Given the description of an element on the screen output the (x, y) to click on. 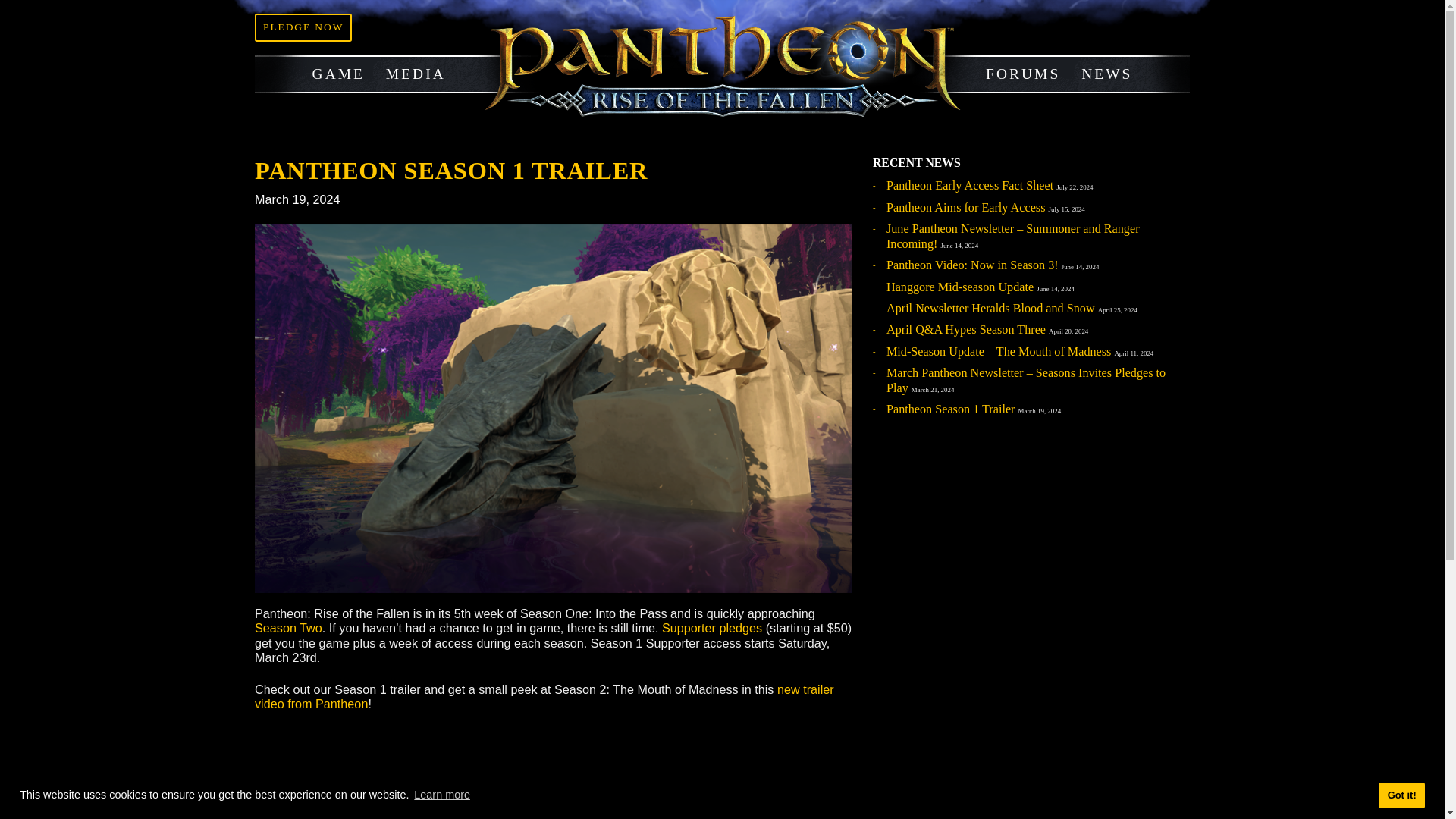
GAME (375, 82)
NEWS (1230, 82)
MEDIA (461, 82)
FORUMS (1136, 82)
YouTube video player (494, 814)
PLEDGE NOW (336, 30)
